Given the description of an element on the screen output the (x, y) to click on. 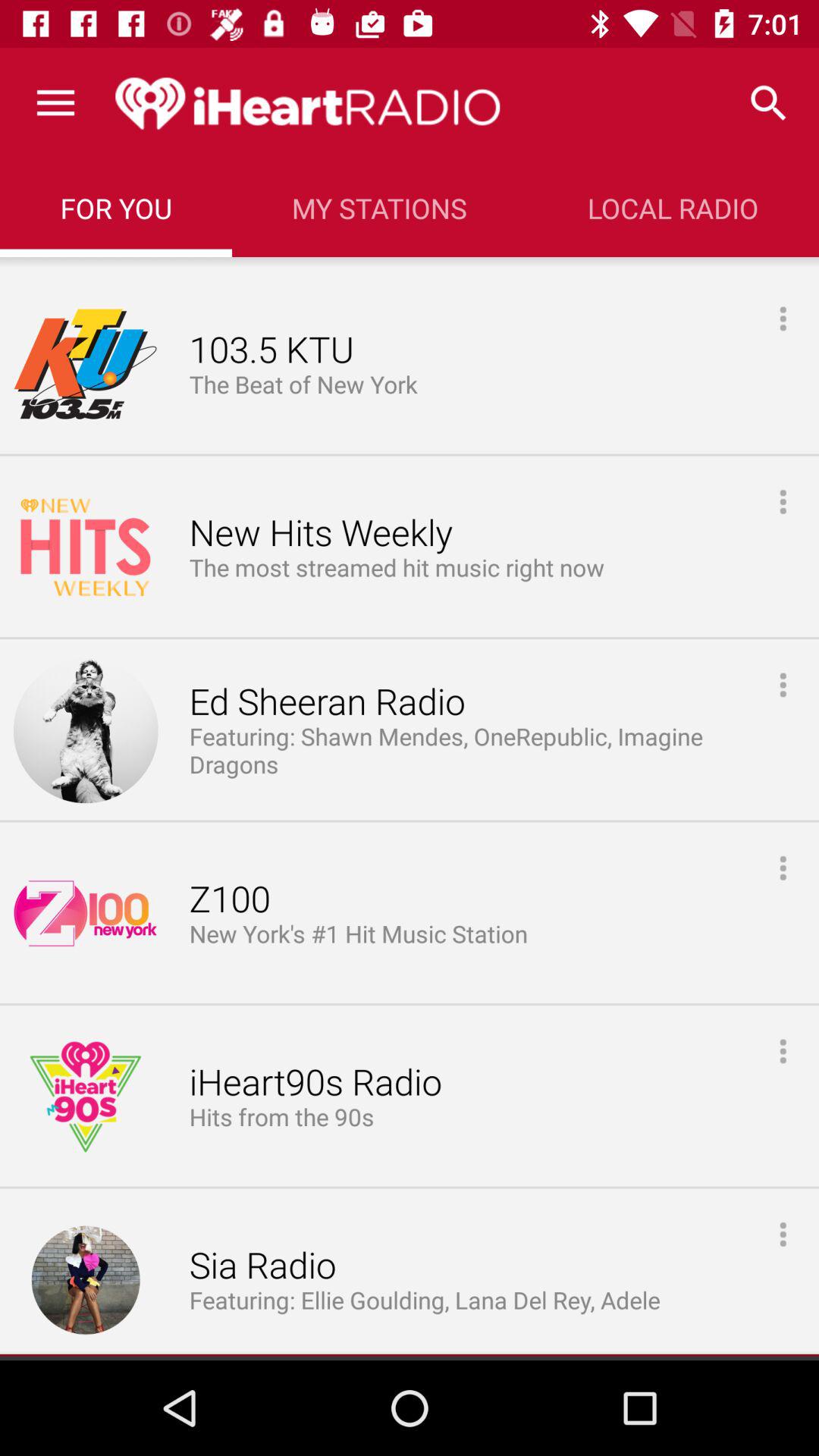
swipe to the my stations (379, 208)
